Given the description of an element on the screen output the (x, y) to click on. 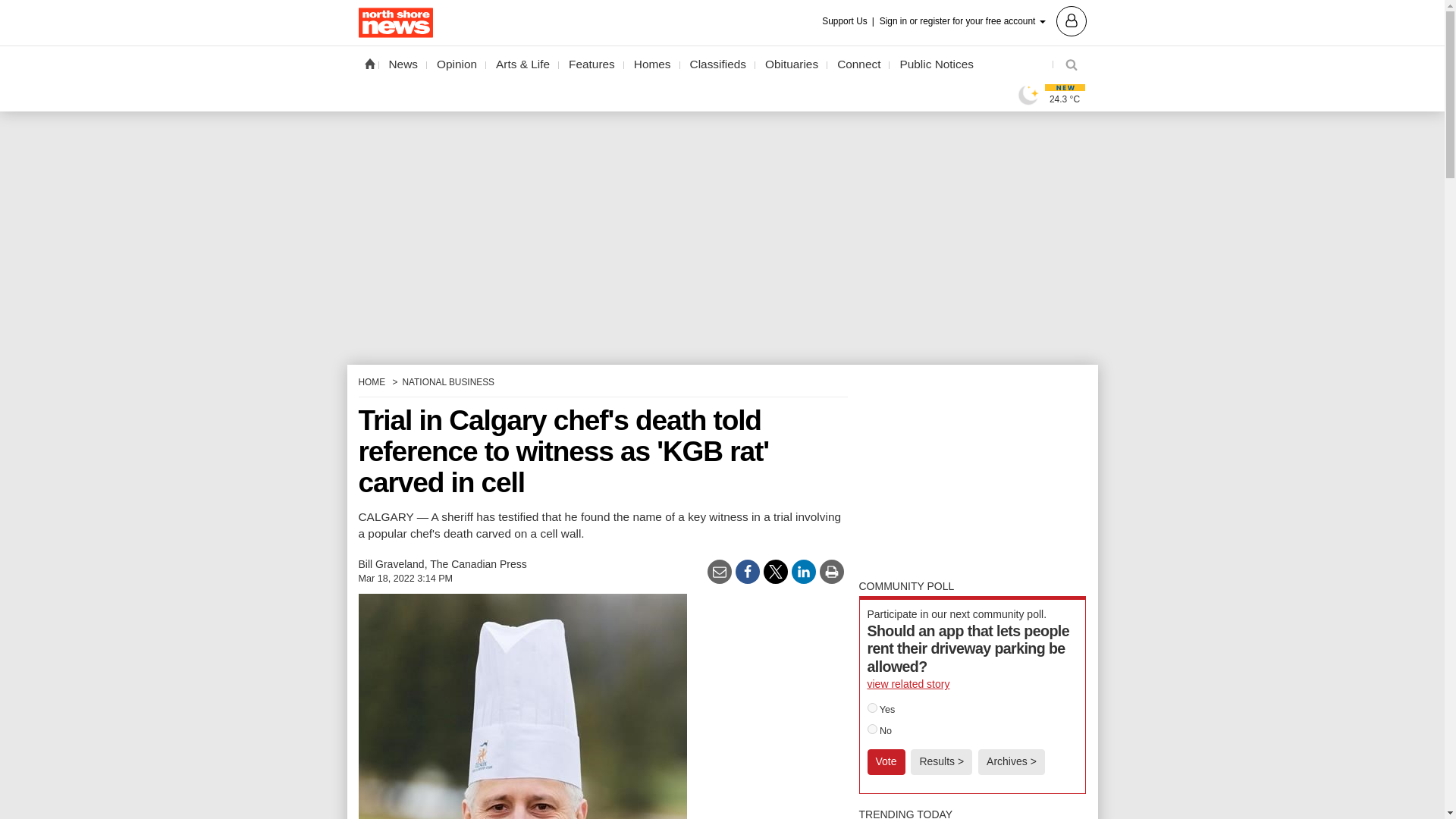
Sign in or register for your free account (982, 20)
121851 (872, 728)
Support Us (849, 21)
News (403, 64)
Opinion (456, 64)
121850 (872, 707)
3rd party ad content (972, 470)
Home (368, 63)
